Given the description of an element on the screen output the (x, y) to click on. 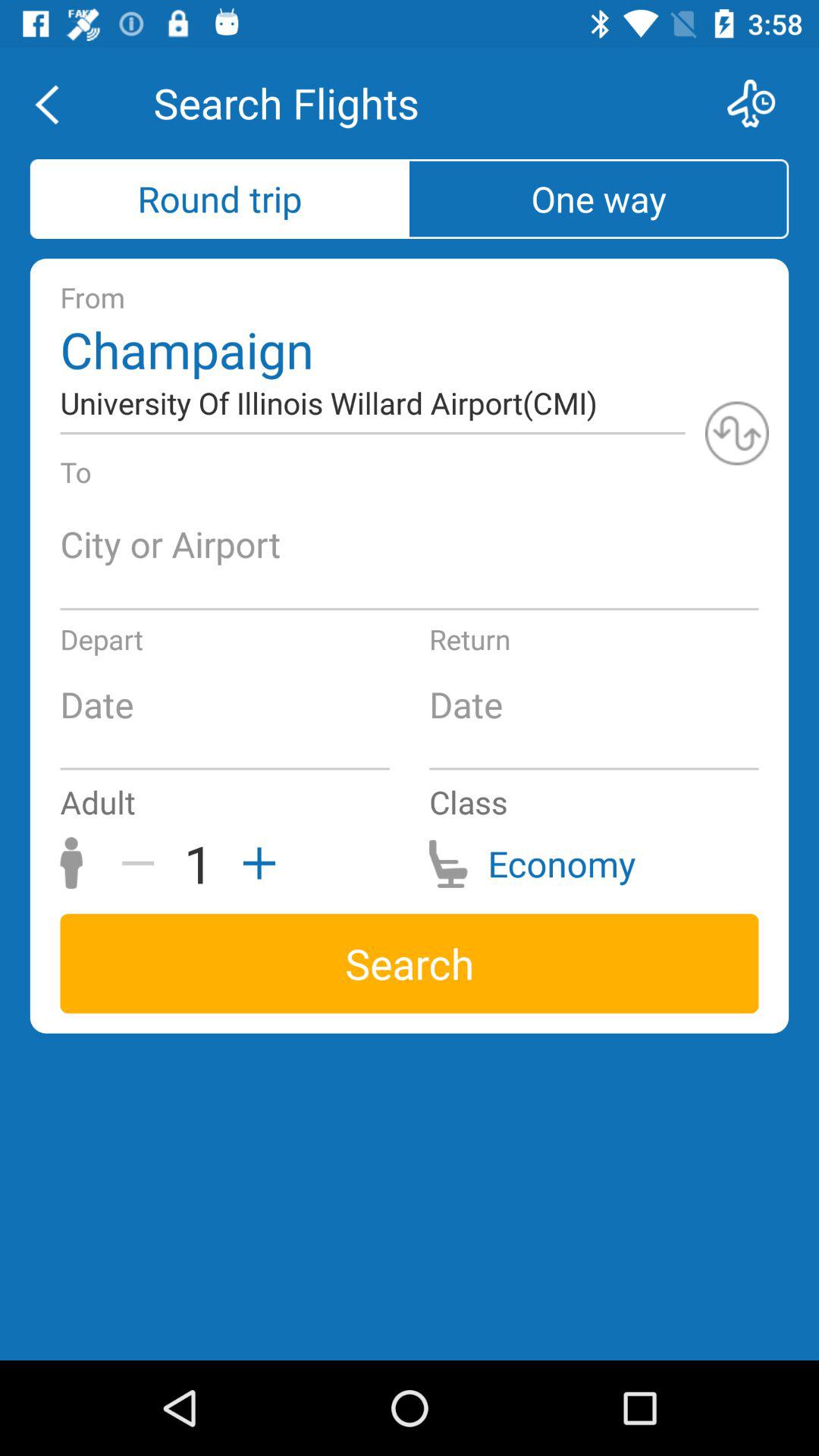
flights options (761, 102)
